Given the description of an element on the screen output the (x, y) to click on. 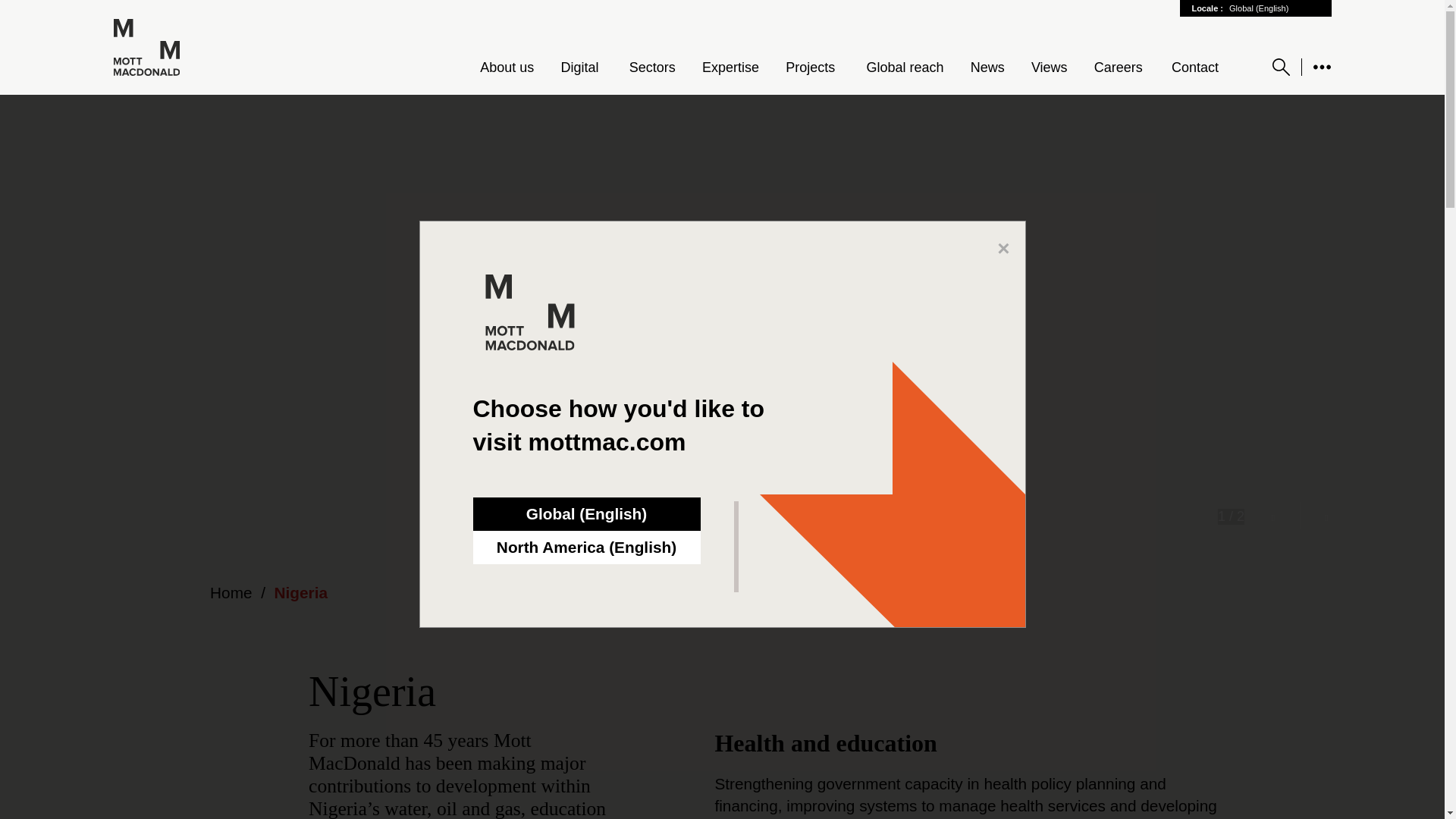
Search (1281, 67)
Follow Us (1321, 67)
About us (507, 67)
Sectors (652, 67)
Digital (581, 68)
